Given the description of an element on the screen output the (x, y) to click on. 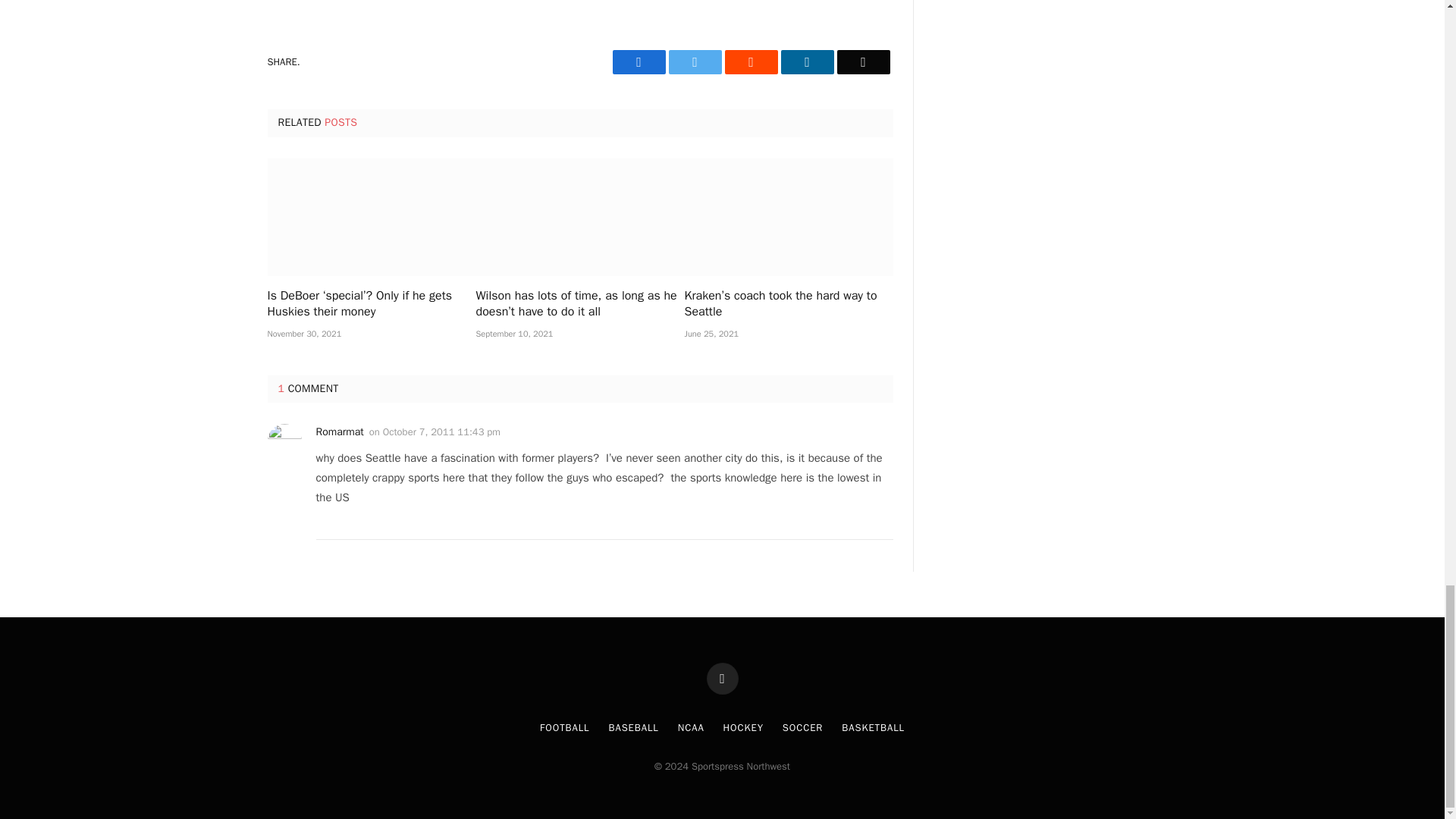
Facebook (638, 61)
Twitter (695, 61)
LinkedIn (807, 61)
Reddit (751, 61)
Email (863, 61)
